Given the description of an element on the screen output the (x, y) to click on. 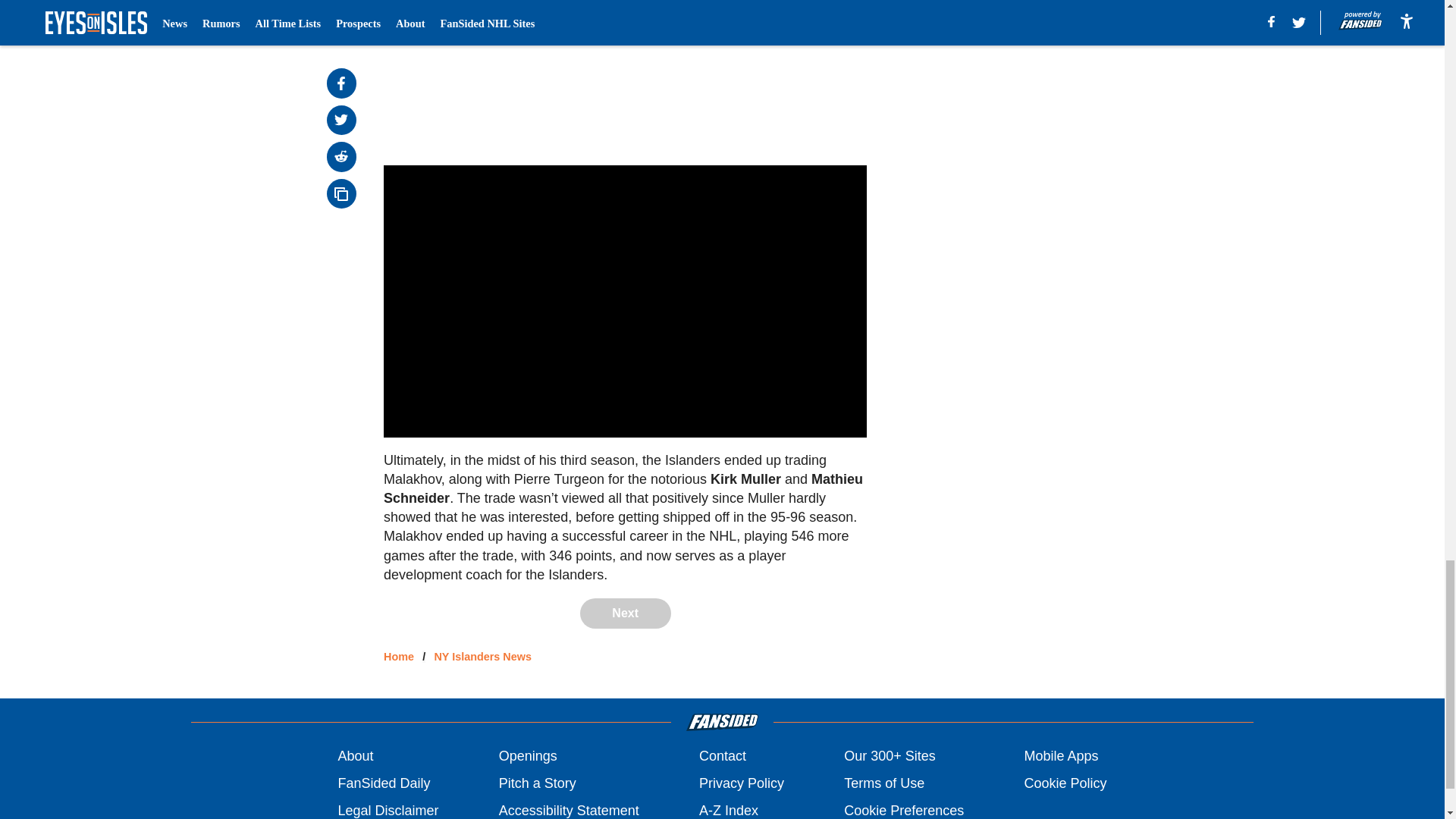
NY Islanders News (482, 656)
Openings (528, 755)
Contact (721, 755)
Home (398, 656)
About (354, 755)
Mobile Apps (1060, 755)
FanSided Daily (383, 783)
Pitch a Story (537, 783)
Next (625, 613)
